Given the description of an element on the screen output the (x, y) to click on. 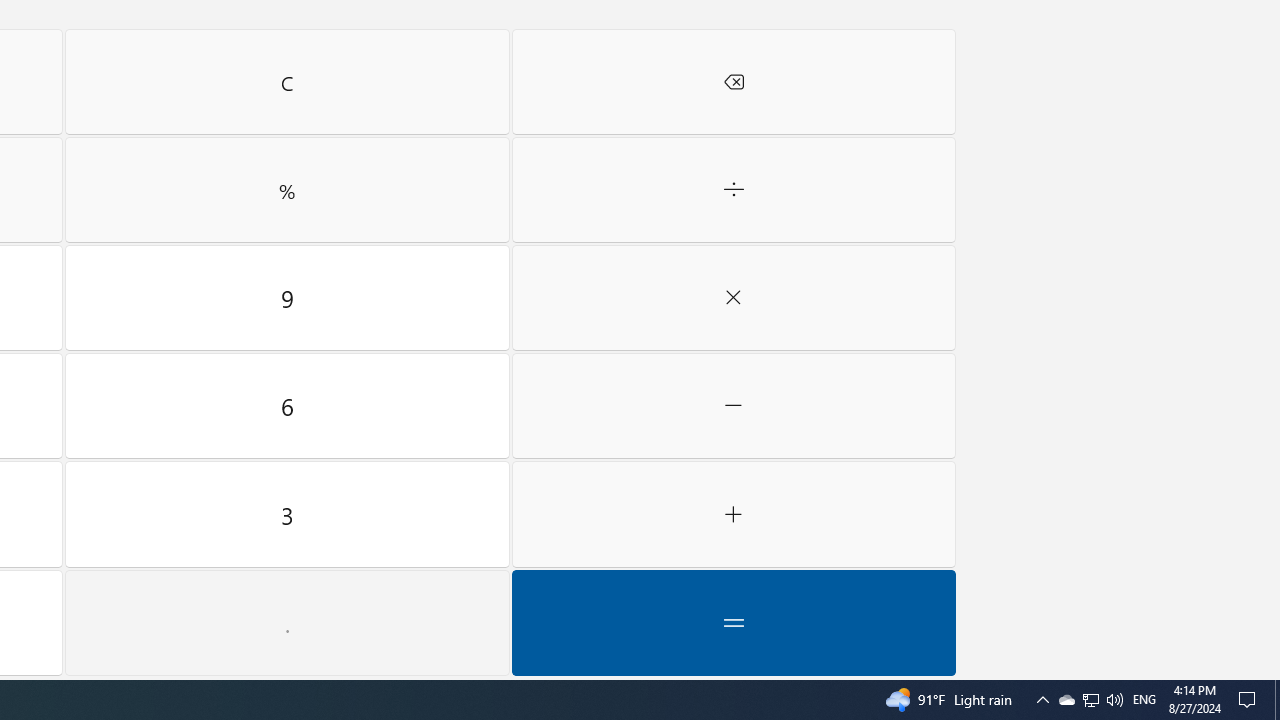
Q2790: 100% (1114, 699)
Minus (734, 405)
Equals (734, 623)
Tray Input Indicator - English (United States) (1144, 699)
Modulo (287, 189)
Clear (287, 81)
Show desktop (1277, 699)
